Given the description of an element on the screen output the (x, y) to click on. 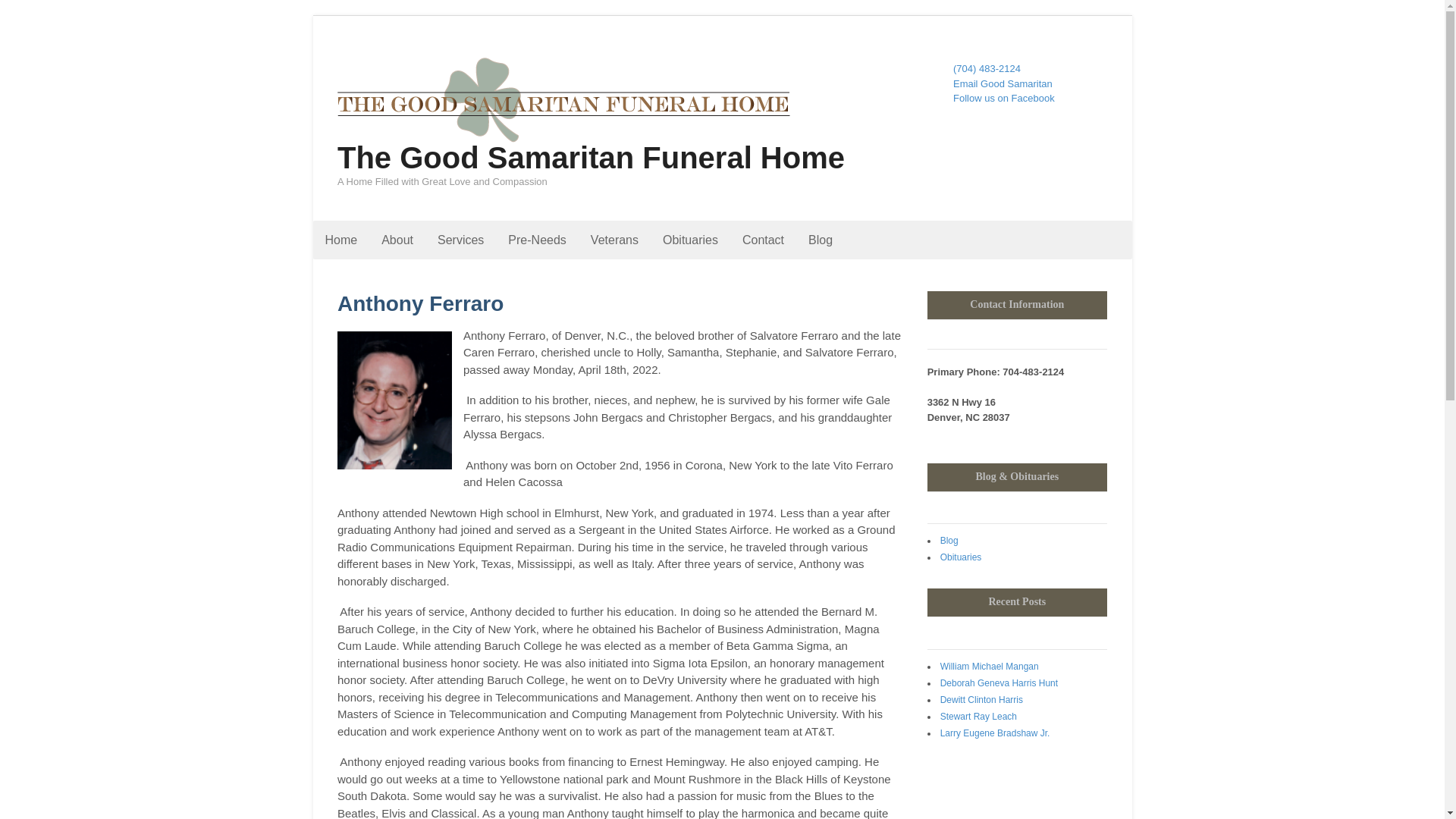
Pre-Needs (537, 239)
Blog (949, 540)
Contact (763, 239)
Deborah Geneva Harris Hunt (999, 683)
Home (341, 239)
The Good Samaritan Funeral Home (590, 157)
William Michael Mangan (989, 665)
Blog (820, 239)
Services (460, 239)
Email Good Samaritan (1002, 83)
